Given the description of an element on the screen output the (x, y) to click on. 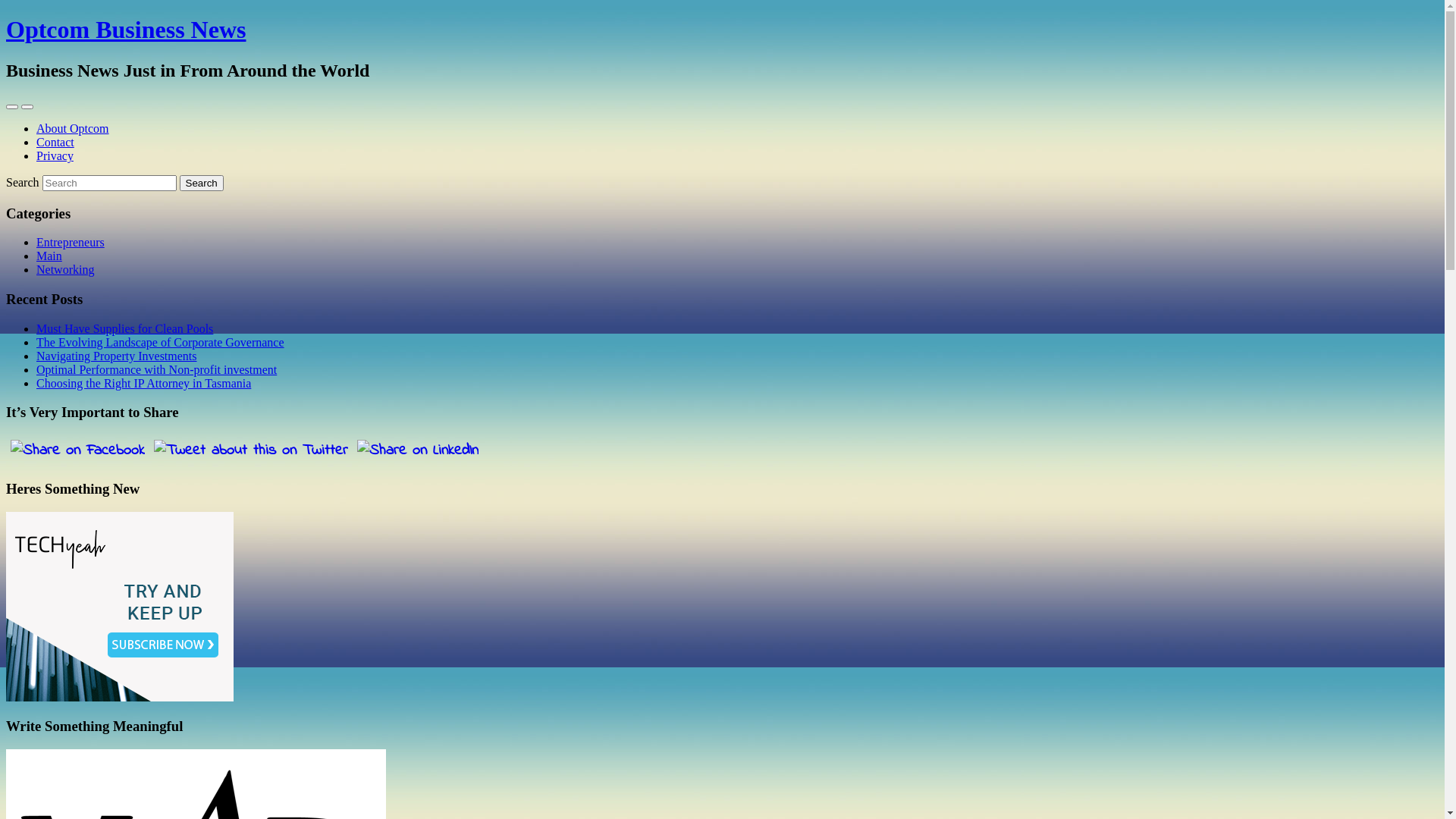
Search Element type: text (201, 183)
Main Element type: text (49, 255)
Optimal Performance with Non-profit investment Element type: text (156, 369)
Optcom Business News Element type: text (125, 29)
Choosing the Right IP Attorney in Tasmania Element type: text (143, 382)
Privacy Element type: text (54, 155)
Networking Element type: text (65, 269)
Entrepreneurs Element type: text (70, 241)
Must Have Supplies for Clean Pools Element type: text (124, 328)
Facebook Element type: hover (77, 450)
Navigating Property Investments Element type: text (116, 355)
LinkedIn Element type: hover (417, 450)
Contact Element type: text (55, 141)
The Evolving Landscape of Corporate Governance Element type: text (160, 341)
Twitter Element type: hover (250, 450)
About Optcom Element type: text (72, 128)
